Given the description of an element on the screen output the (x, y) to click on. 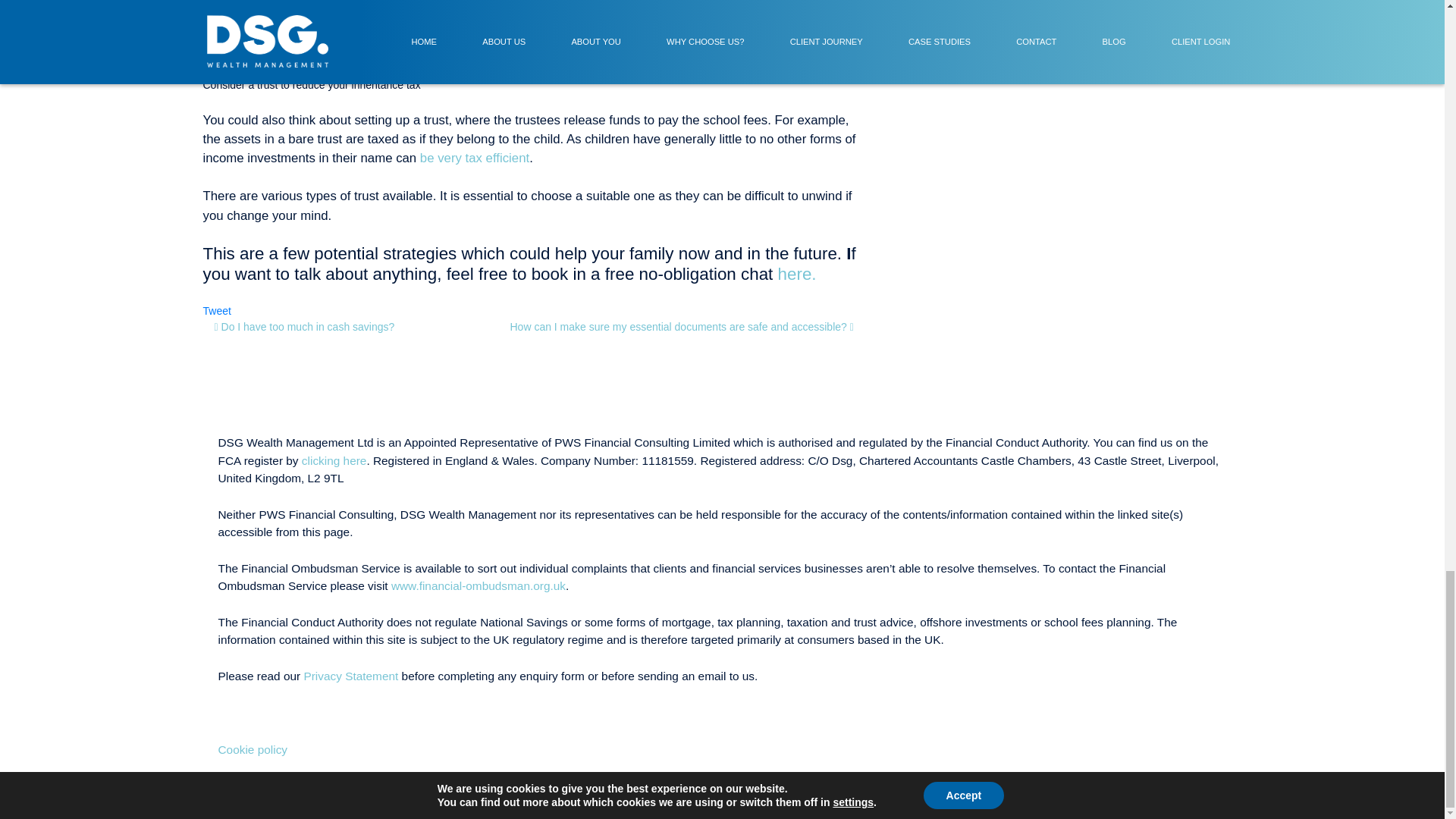
be very tax efficient (474, 157)
here. (796, 273)
Tweet (217, 310)
